Given the description of an element on the screen output the (x, y) to click on. 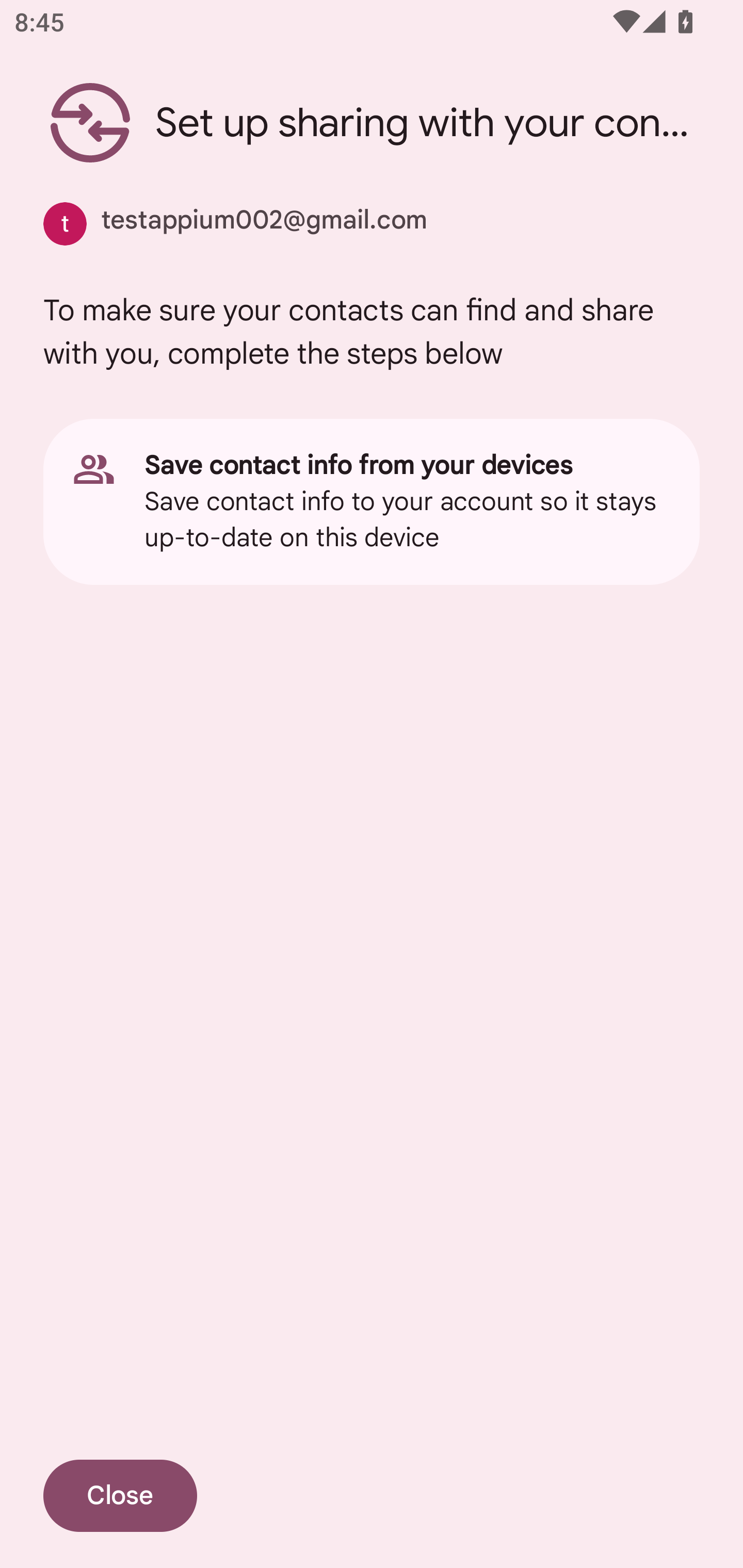
Close (119, 1495)
